Given the description of an element on the screen output the (x, y) to click on. 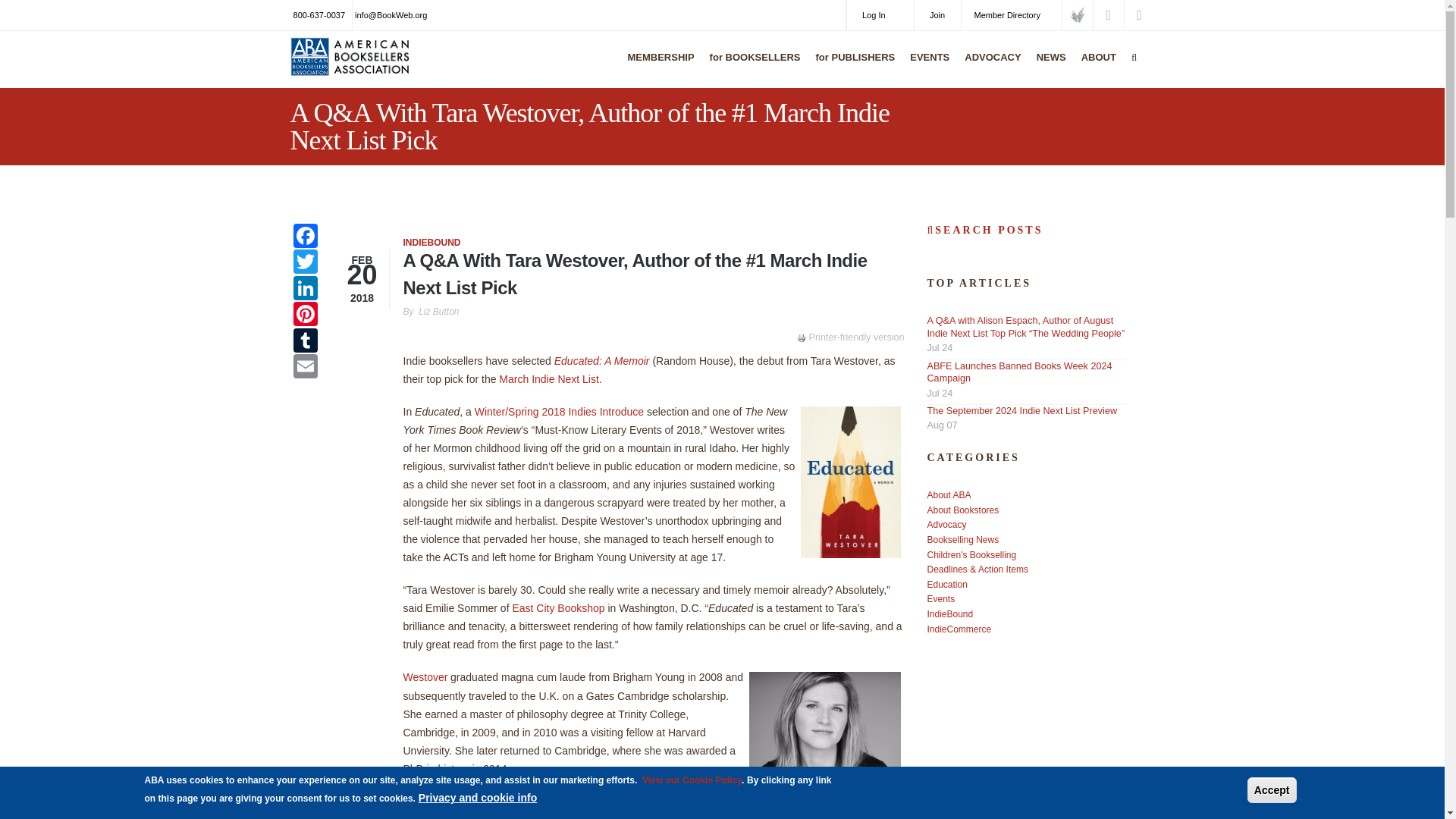
Privacy and cookie info (478, 797)
EVENTS (925, 66)
Member Directory (1010, 15)
Accept (1272, 790)
MEMBERSHIP (656, 66)
ADVOCACY (989, 66)
for PUBLISHERS (852, 66)
NEWS (1047, 66)
ABOUT (1094, 66)
MEMBERSHIP (656, 66)
